Given the description of an element on the screen output the (x, y) to click on. 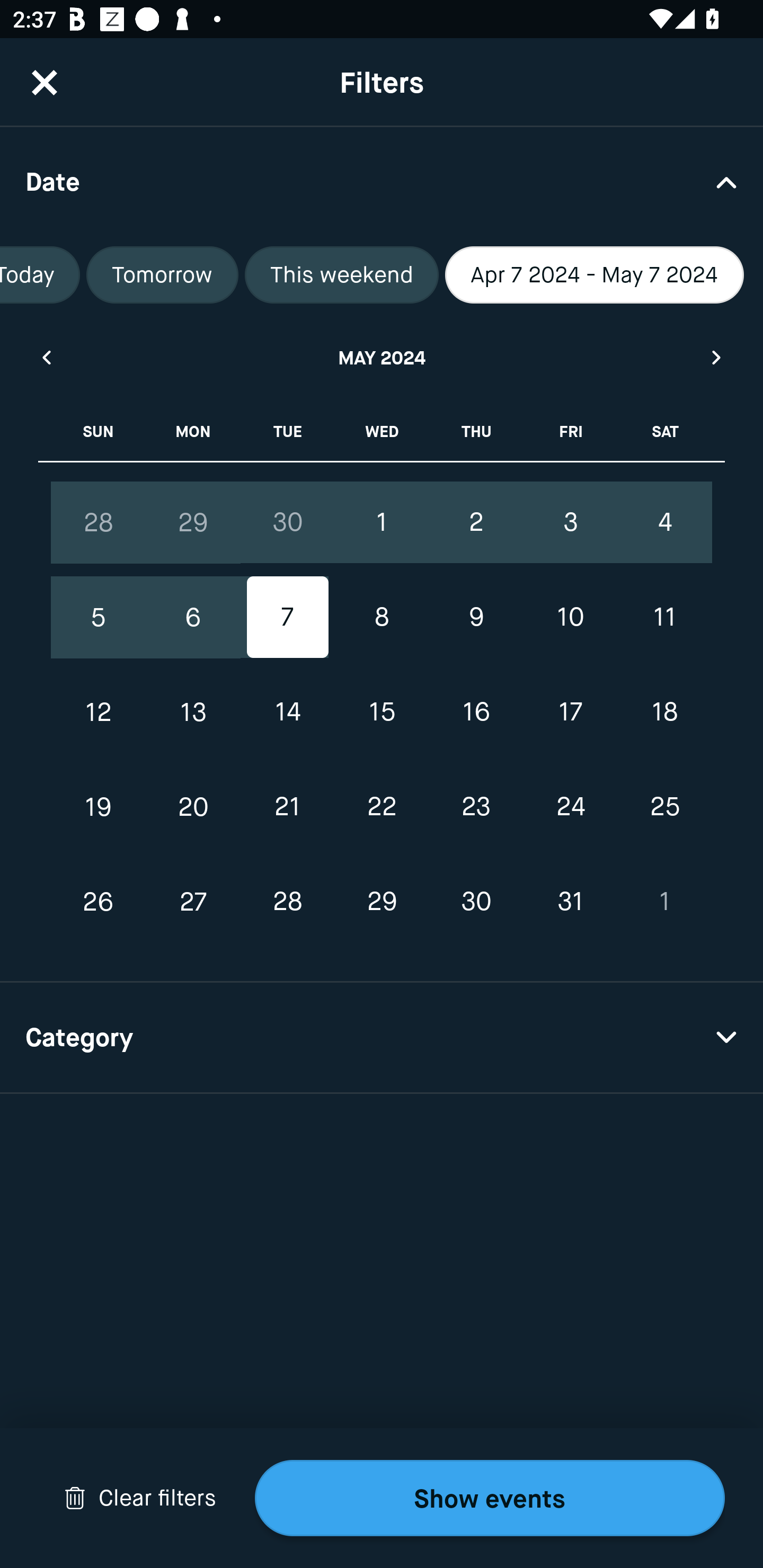
CloseButton (44, 82)
Date Drop Down Arrow (381, 181)
Tomorrow (162, 274)
This weekend (341, 274)
Apr 7 2024 - May 7 2024 (593, 274)
Previous (45, 357)
Next (717, 357)
28 (98, 522)
29 (192, 522)
30 (287, 522)
1 (381, 522)
2 (475, 522)
3 (570, 522)
4 (664, 522)
5 (98, 617)
6 (192, 617)
7 (287, 617)
8 (381, 617)
9 (475, 617)
10 (570, 617)
11 (664, 617)
12 (98, 711)
13 (192, 711)
14 (287, 711)
15 (381, 711)
16 (475, 711)
17 (570, 711)
18 (664, 711)
19 (98, 806)
20 (192, 806)
21 (287, 806)
22 (381, 806)
23 (475, 806)
24 (570, 806)
25 (664, 806)
26 (98, 901)
27 (192, 901)
28 (287, 901)
29 (381, 901)
30 (475, 901)
31 (570, 901)
1 (664, 901)
Category Drop Down Arrow (381, 1038)
Drop Down Arrow Clear filters (139, 1497)
Show events (489, 1497)
